Given the description of an element on the screen output the (x, y) to click on. 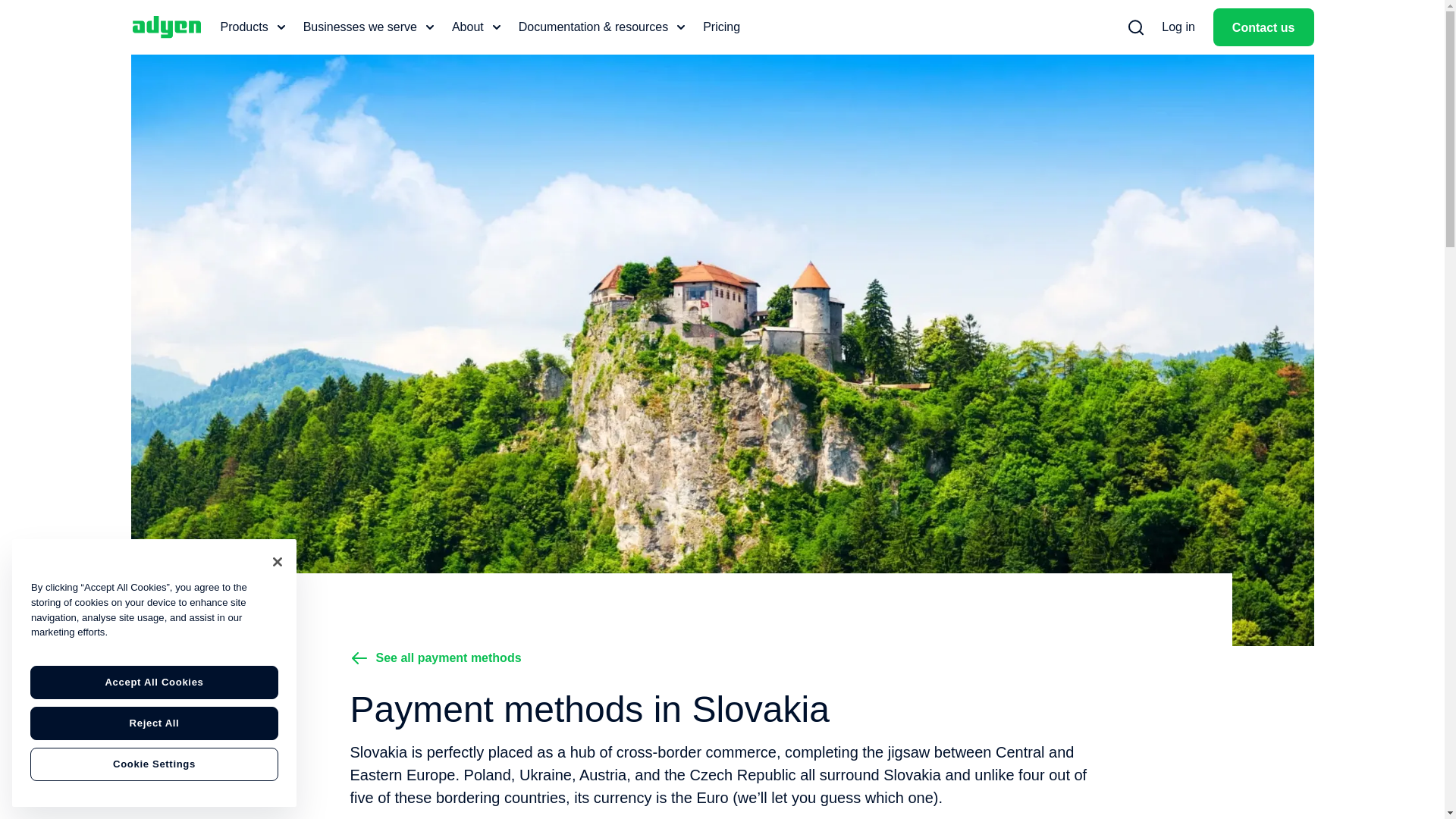
About (475, 27)
Products (251, 27)
See all payment methods (436, 657)
Contact us (1263, 26)
Businesses we serve (367, 27)
